Given the description of an element on the screen output the (x, y) to click on. 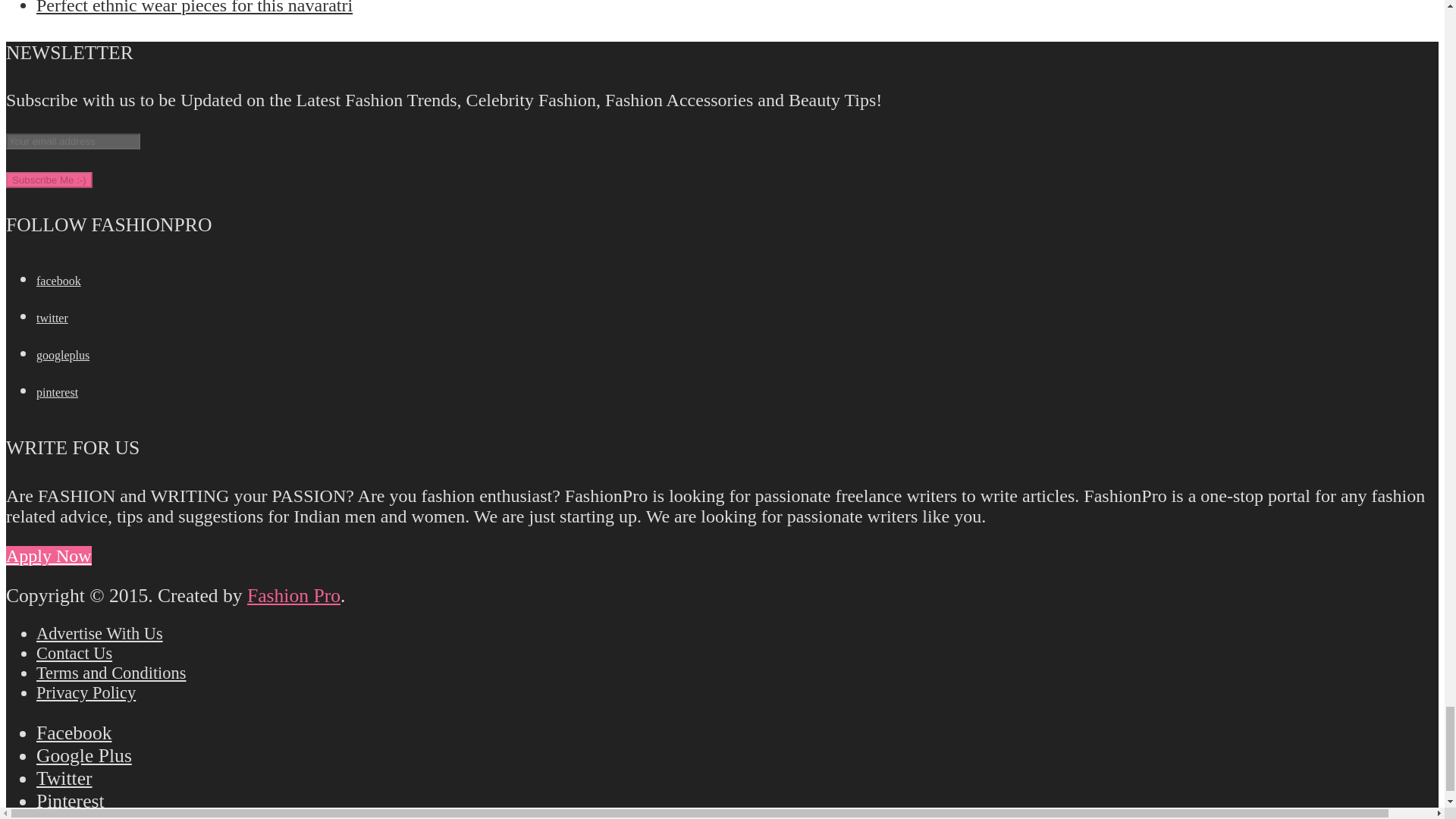
Facebook (58, 280)
Pinterest (57, 391)
